Given the description of an element on the screen output the (x, y) to click on. 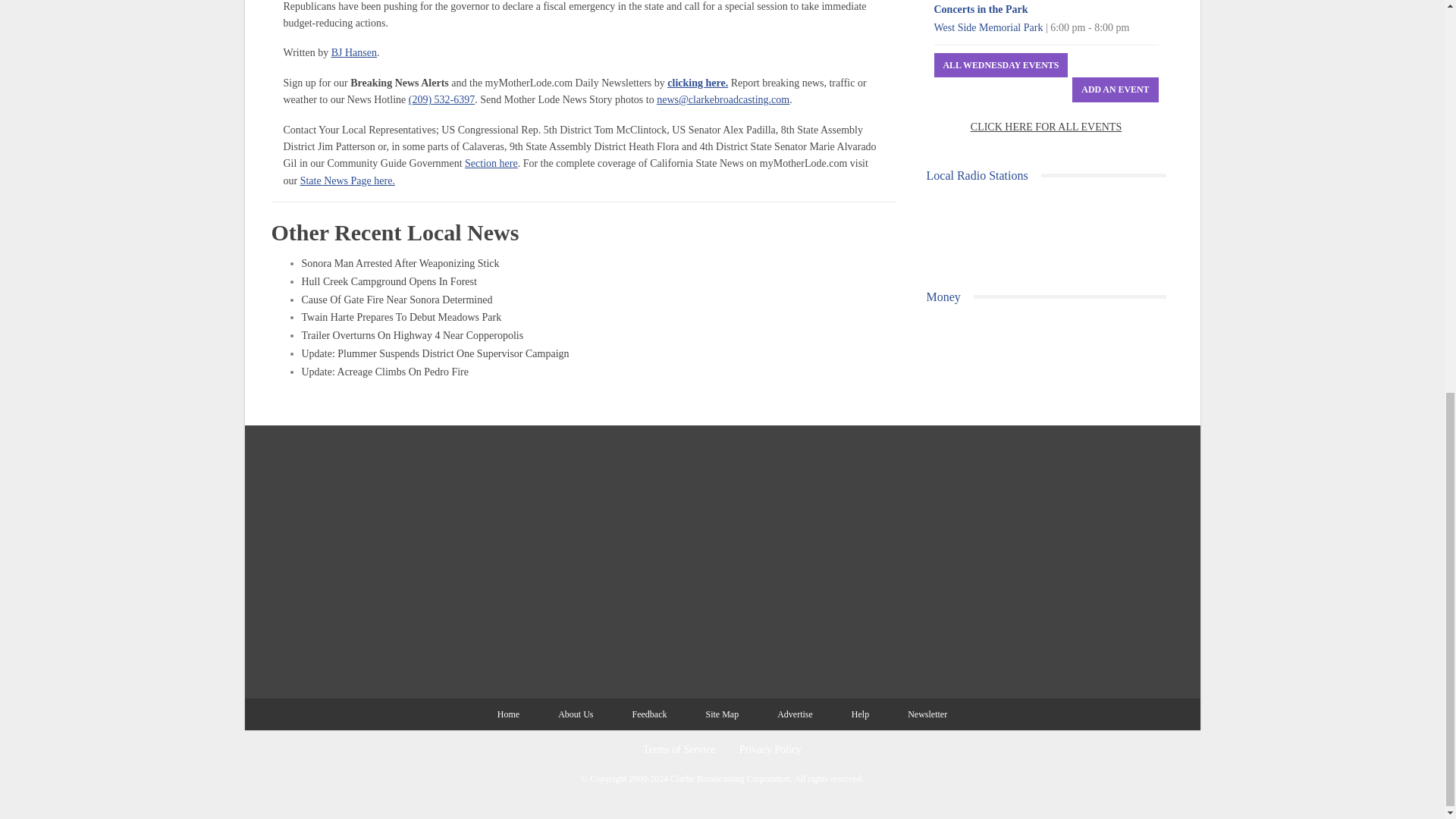
Add An Event (1114, 89)
All Wednesday Events (1001, 65)
